Given the description of an element on the screen output the (x, y) to click on. 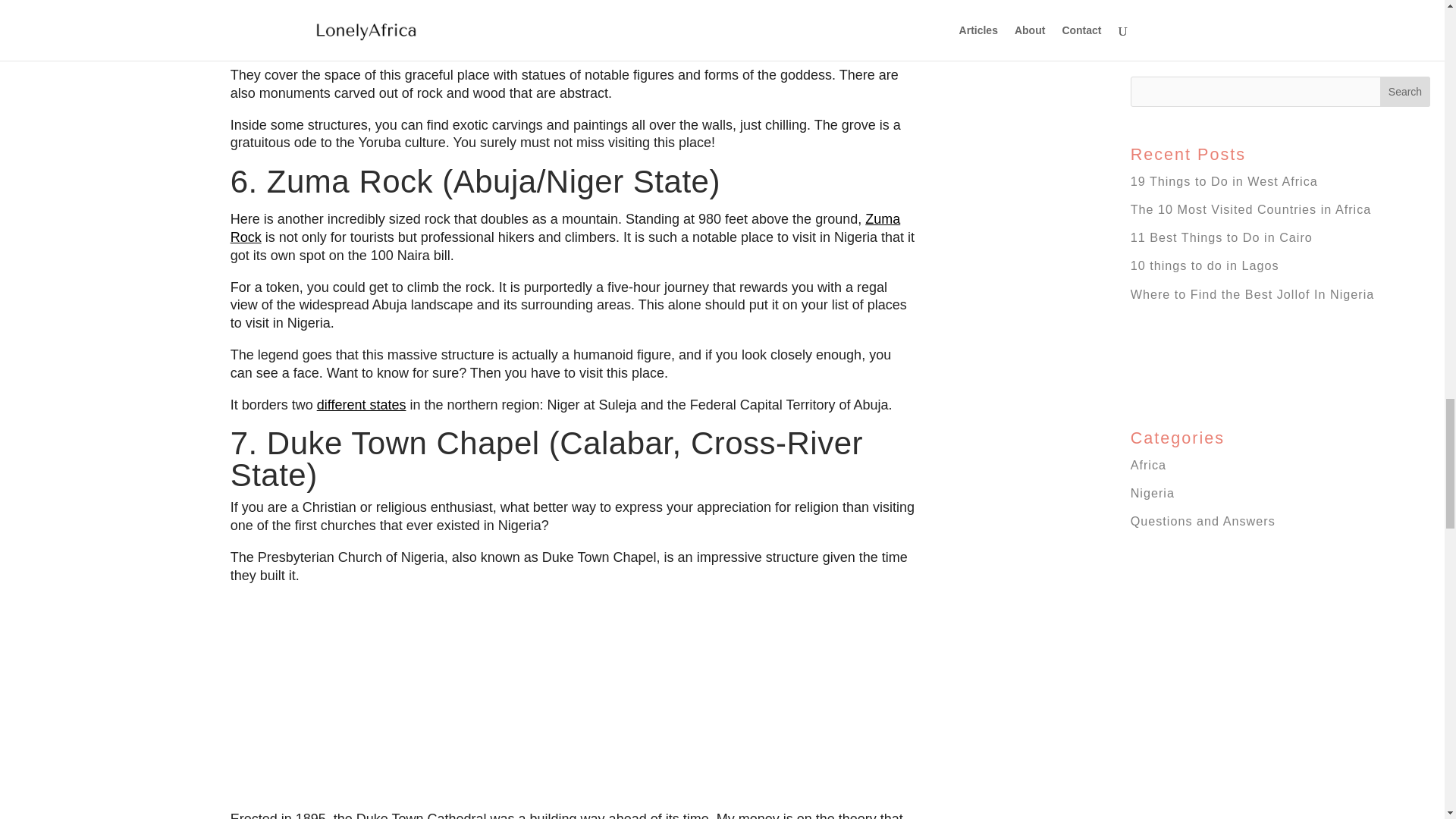
Zuma Rock (565, 227)
different states (361, 404)
Advertisement (573, 33)
